Given the description of an element on the screen output the (x, y) to click on. 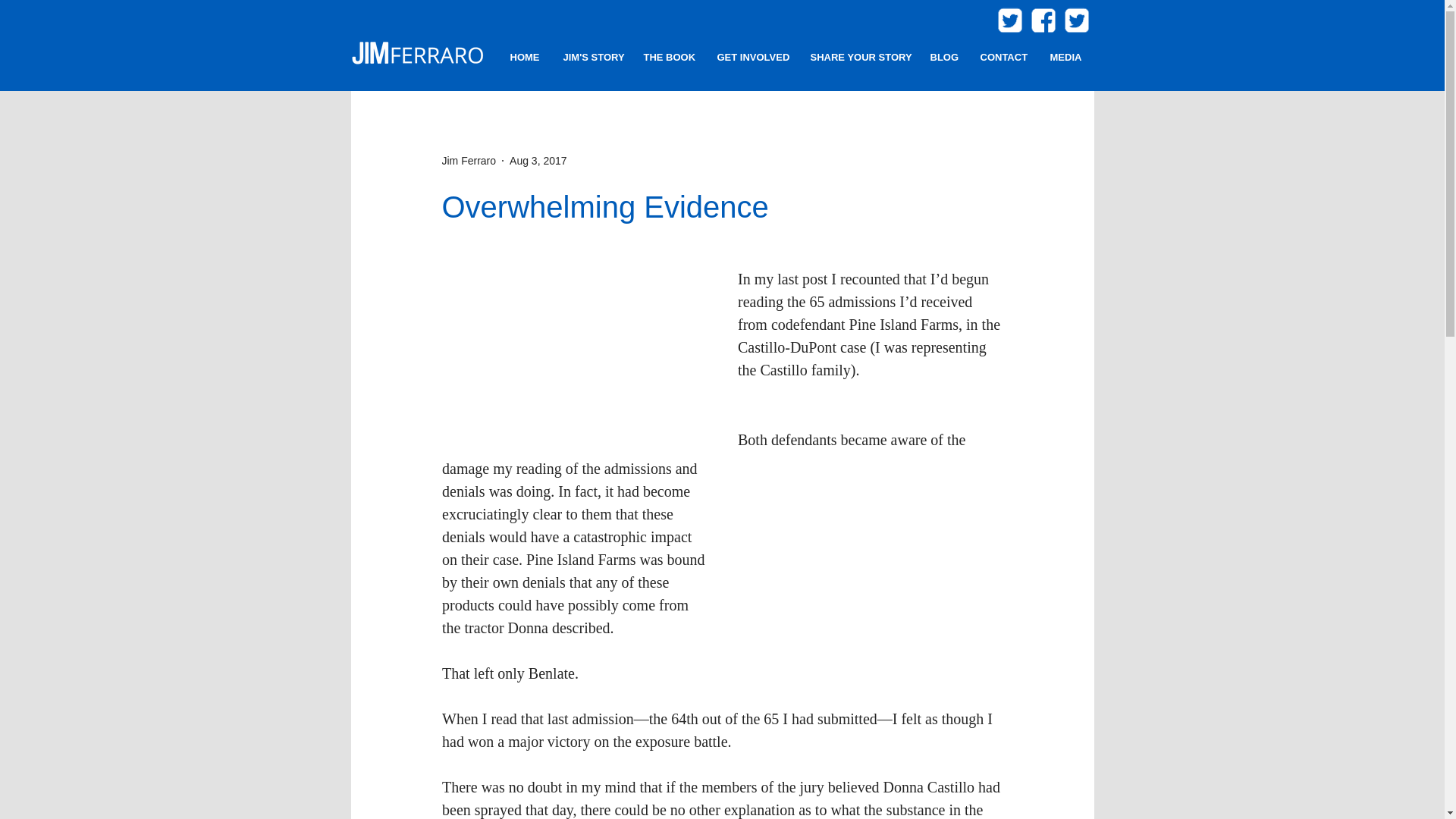
GET INVOLVED (750, 57)
Jim Ferraro (468, 160)
SHARE YOUR STORY (857, 57)
BLOG (942, 57)
CONTACT (1002, 57)
JIM'S STORY (590, 57)
HOME (525, 57)
MEDIA (1064, 57)
THE BOOK (667, 57)
Aug 3, 2017 (538, 160)
